Given the description of an element on the screen output the (x, y) to click on. 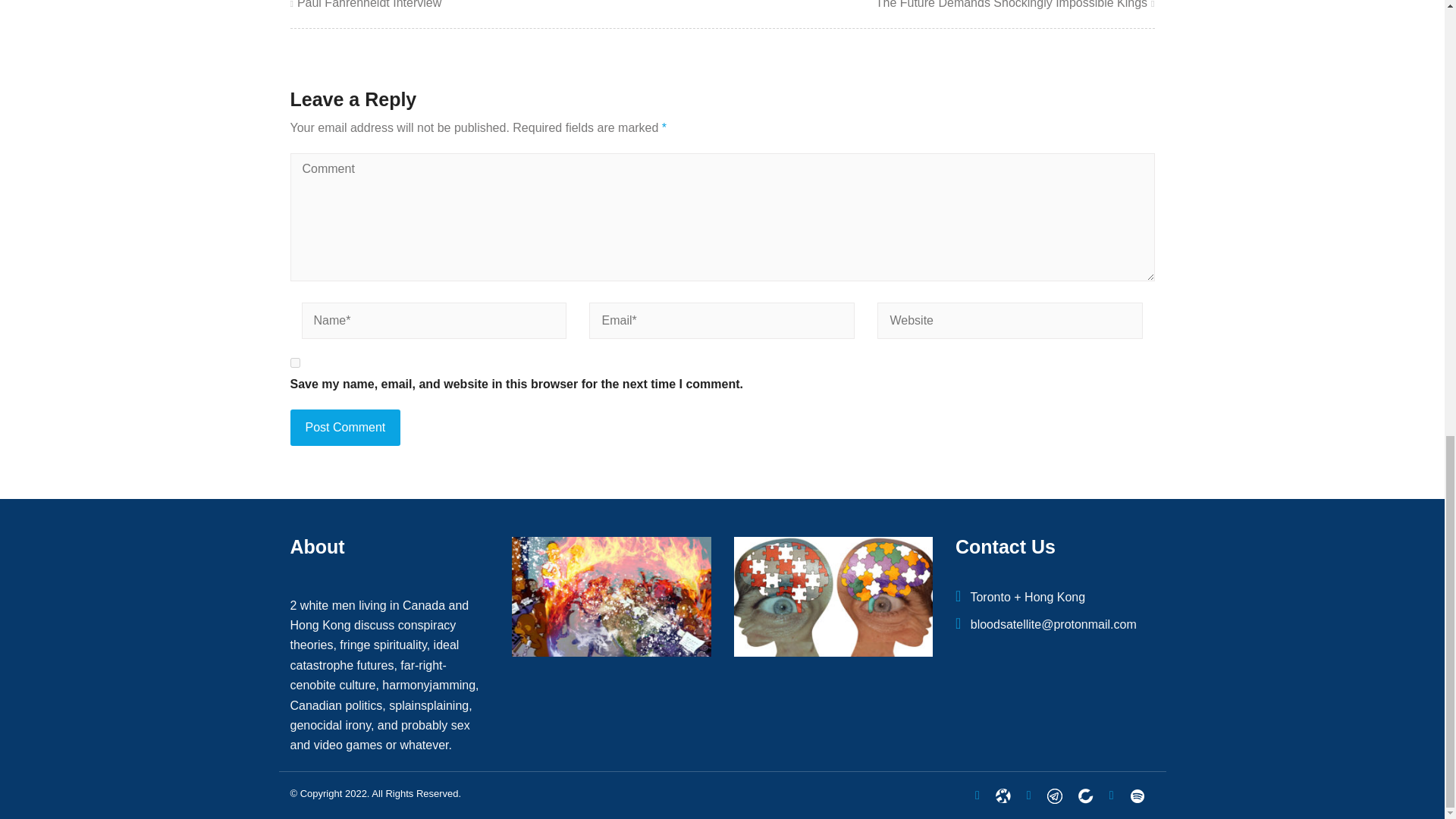
Post Comment (344, 427)
yes (294, 362)
